Given the description of an element on the screen output the (x, y) to click on. 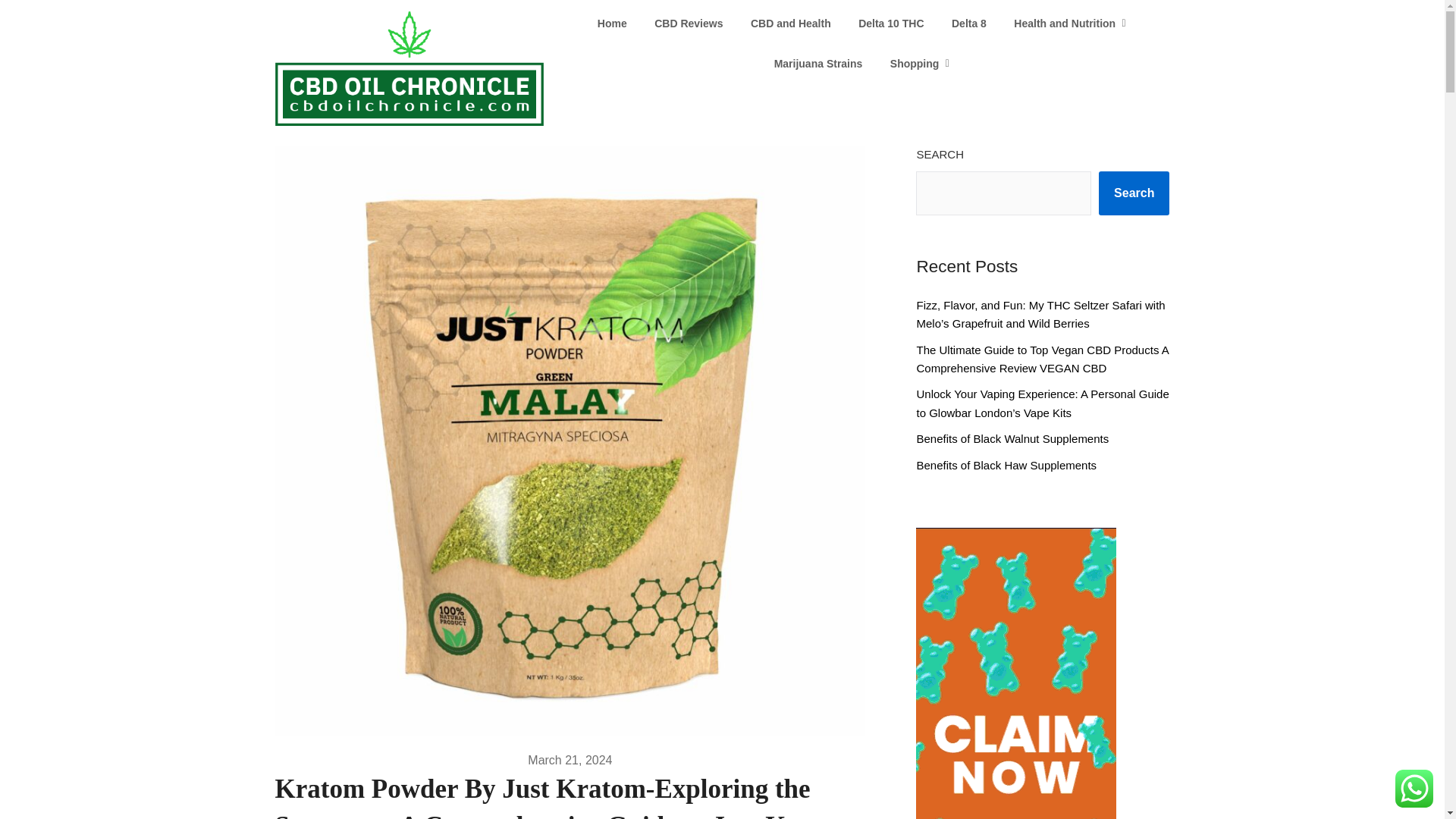
March 21, 2024 (569, 759)
Health and Nutrition (1063, 24)
Home (612, 24)
Marijuana Strains (818, 64)
Delta 10 THC (890, 24)
CBD and Health (790, 24)
CBD Reviews (688, 24)
Delta 8 (968, 24)
Shopping (914, 64)
